Given the description of an element on the screen output the (x, y) to click on. 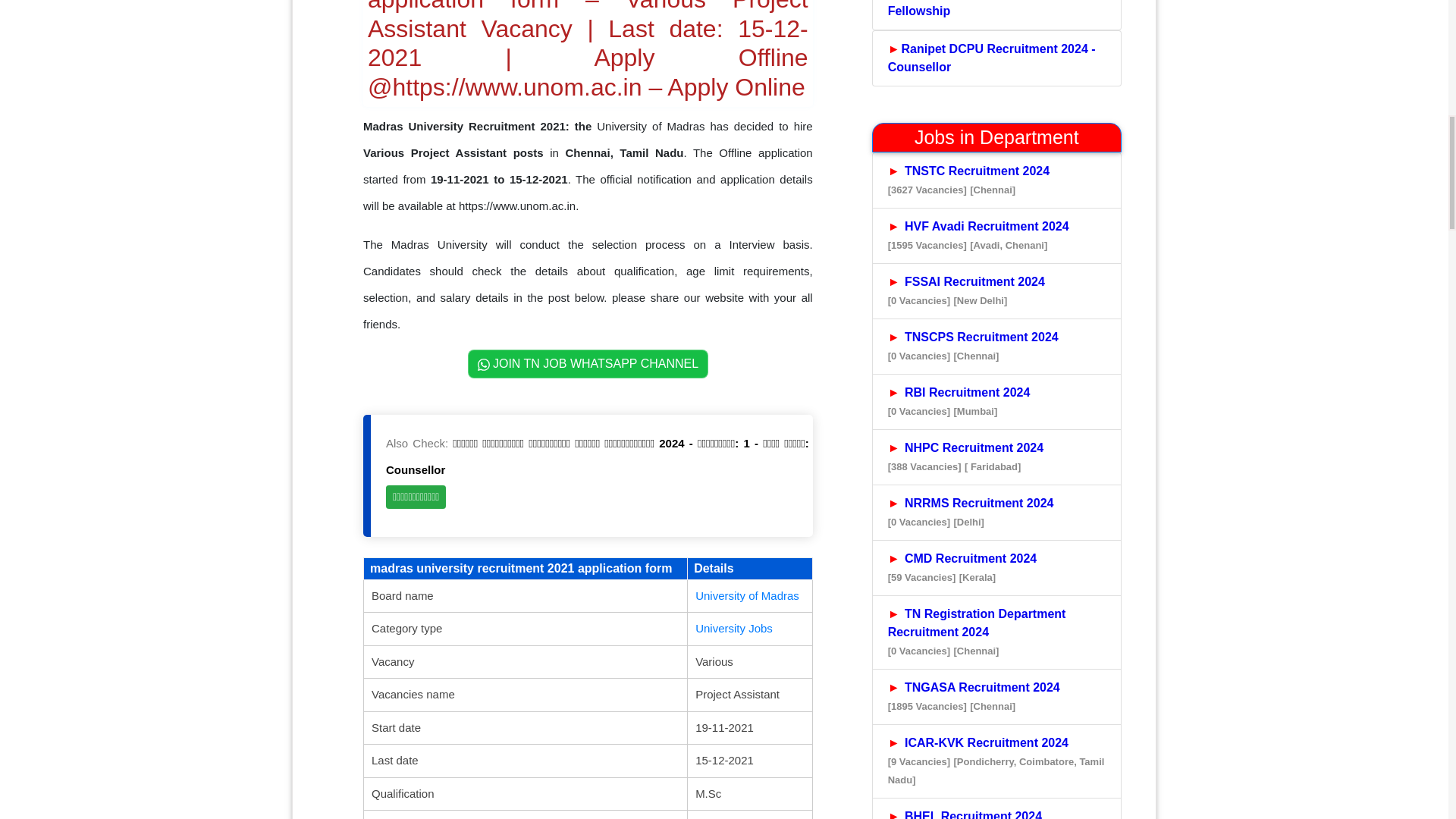
JOIN TN JOB WHATSAPP CHANNEL (588, 363)
University Jobs (734, 627)
University of Madras (747, 594)
